Given the description of an element on the screen output the (x, y) to click on. 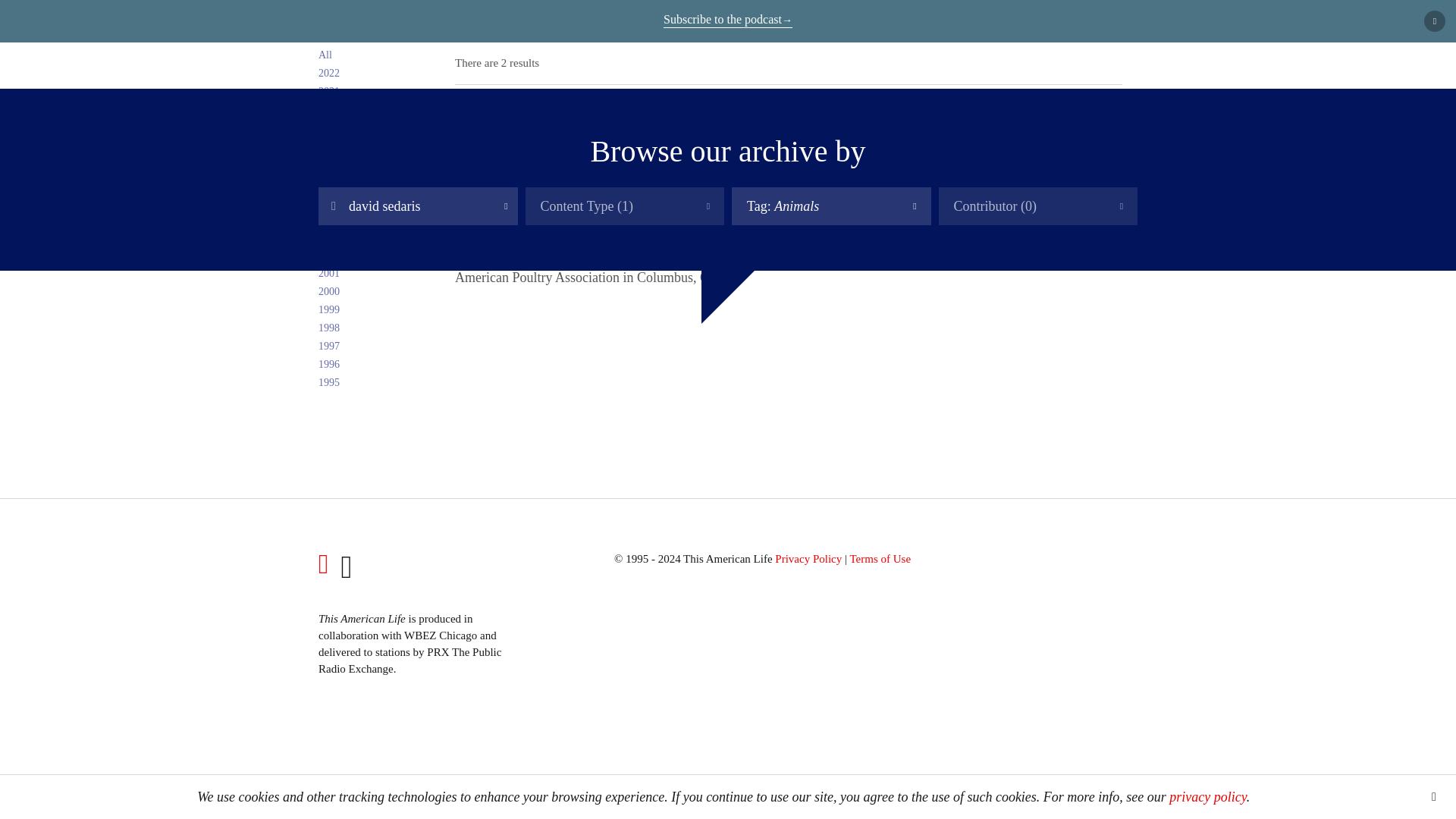
david sedaris (418, 206)
This American Life (317, 23)
privacy policy (1207, 796)
